Given the description of an element on the screen output the (x, y) to click on. 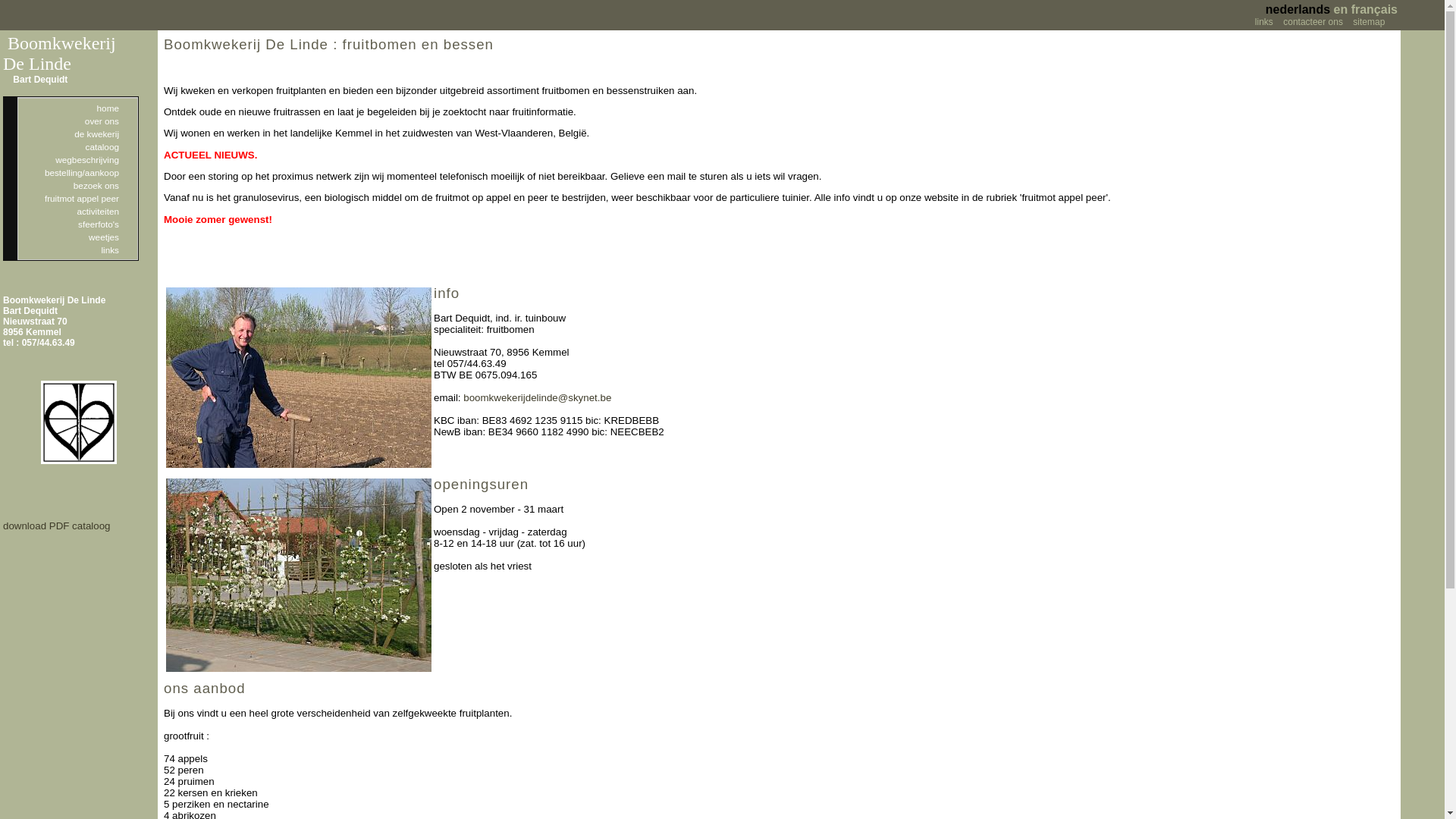
weetjes Element type: text (77, 236)
home Element type: text (77, 107)
bestelling/aankoop Element type: text (77, 172)
de kwekerij Element type: text (77, 133)
sitemap Element type: text (1368, 21)
contacteer ons Element type: text (1313, 21)
fruitmot appel peer Element type: text (77, 197)
activiteiten Element type: text (77, 210)
sfeerfoto's Element type: text (77, 223)
bezoek ons Element type: text (77, 184)
wegbeschrijving Element type: text (77, 159)
boomkwekerijdelinde@skynet.be Element type: text (537, 397)
links Element type: text (1264, 21)
cataloog Element type: text (77, 146)
download PDF cataloog Element type: text (56, 525)
links Element type: text (77, 249)
over ons Element type: text (77, 120)
